Given the description of an element on the screen output the (x, y) to click on. 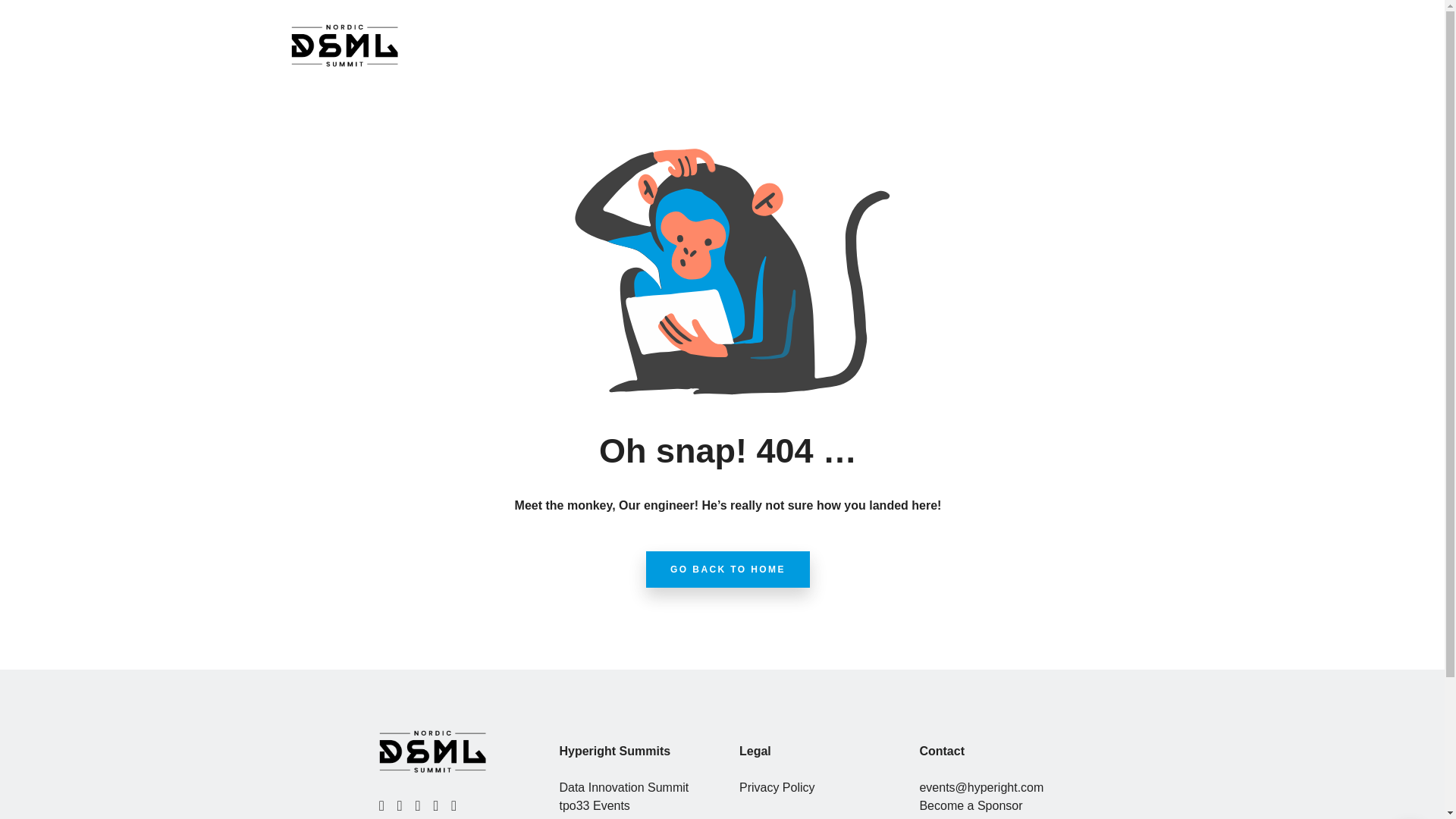
Data2030 Summit (607, 818)
Become a Sponsor (970, 805)
tpo33 Events (593, 805)
GO BACK TO HOME (727, 569)
Privacy Policy (777, 787)
Data Innovation Summit (623, 787)
